Given the description of an element on the screen output the (x, y) to click on. 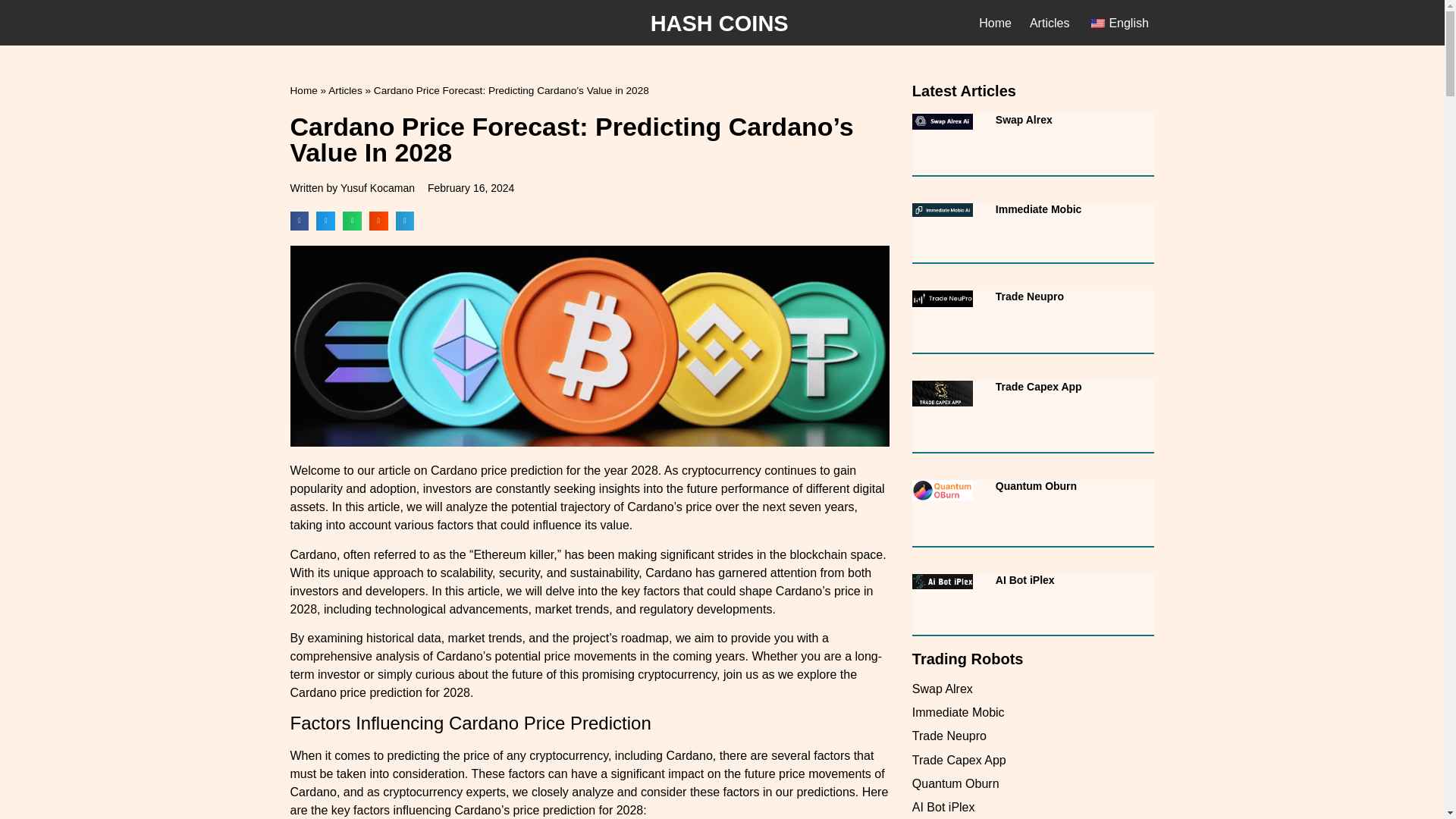
English (1097, 22)
English (1117, 23)
Home (994, 23)
HASH COINS (719, 22)
Home (303, 90)
Articles (1048, 23)
Articles (345, 90)
